Given the description of an element on the screen output the (x, y) to click on. 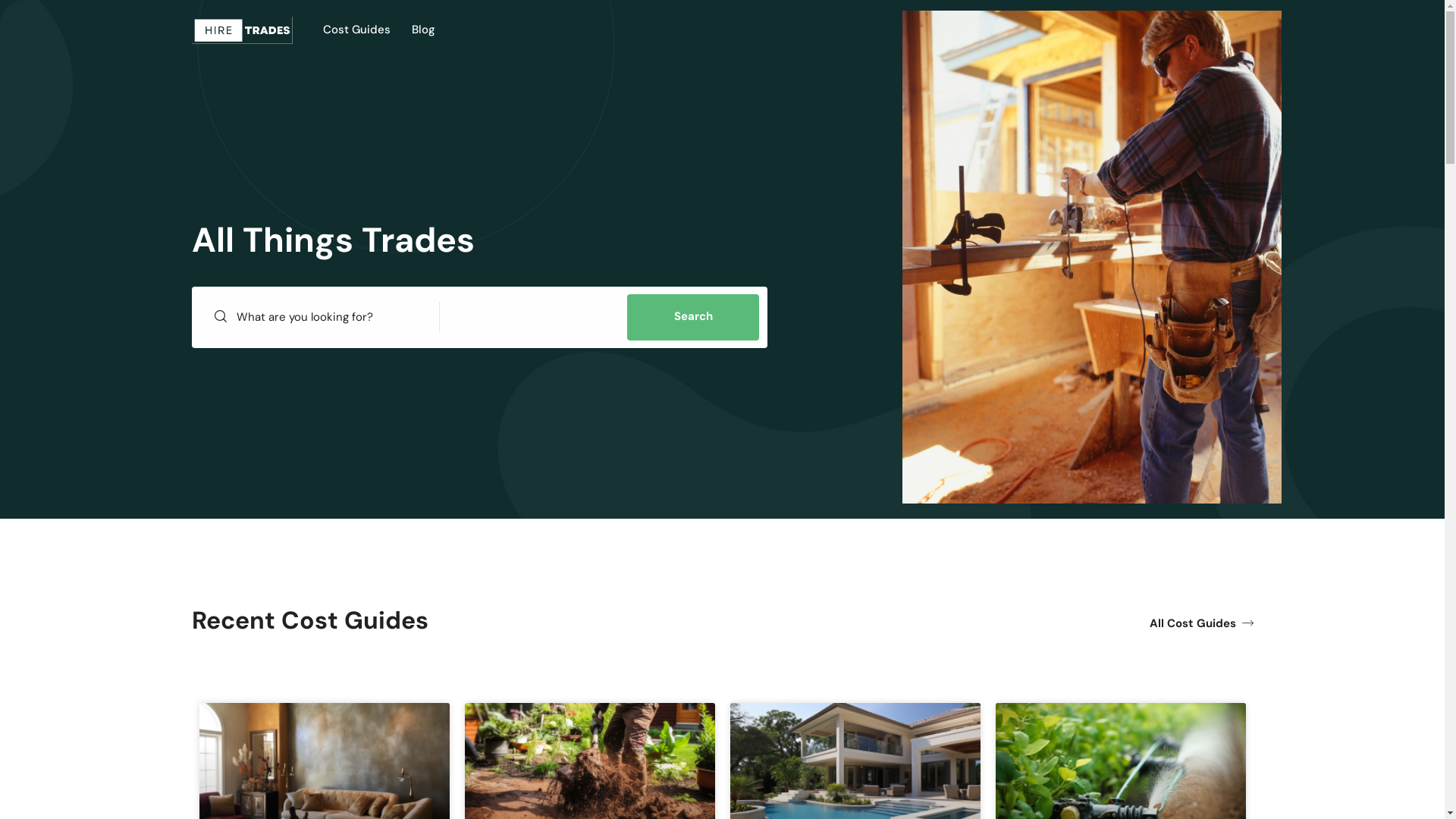
Search Element type: text (693, 317)
Blog Element type: text (422, 30)
All Cost Guides Element type: text (1201, 623)
Cost Guides Element type: text (356, 30)
image (3) Element type: hover (1091, 256)
